Given the description of an element on the screen output the (x, y) to click on. 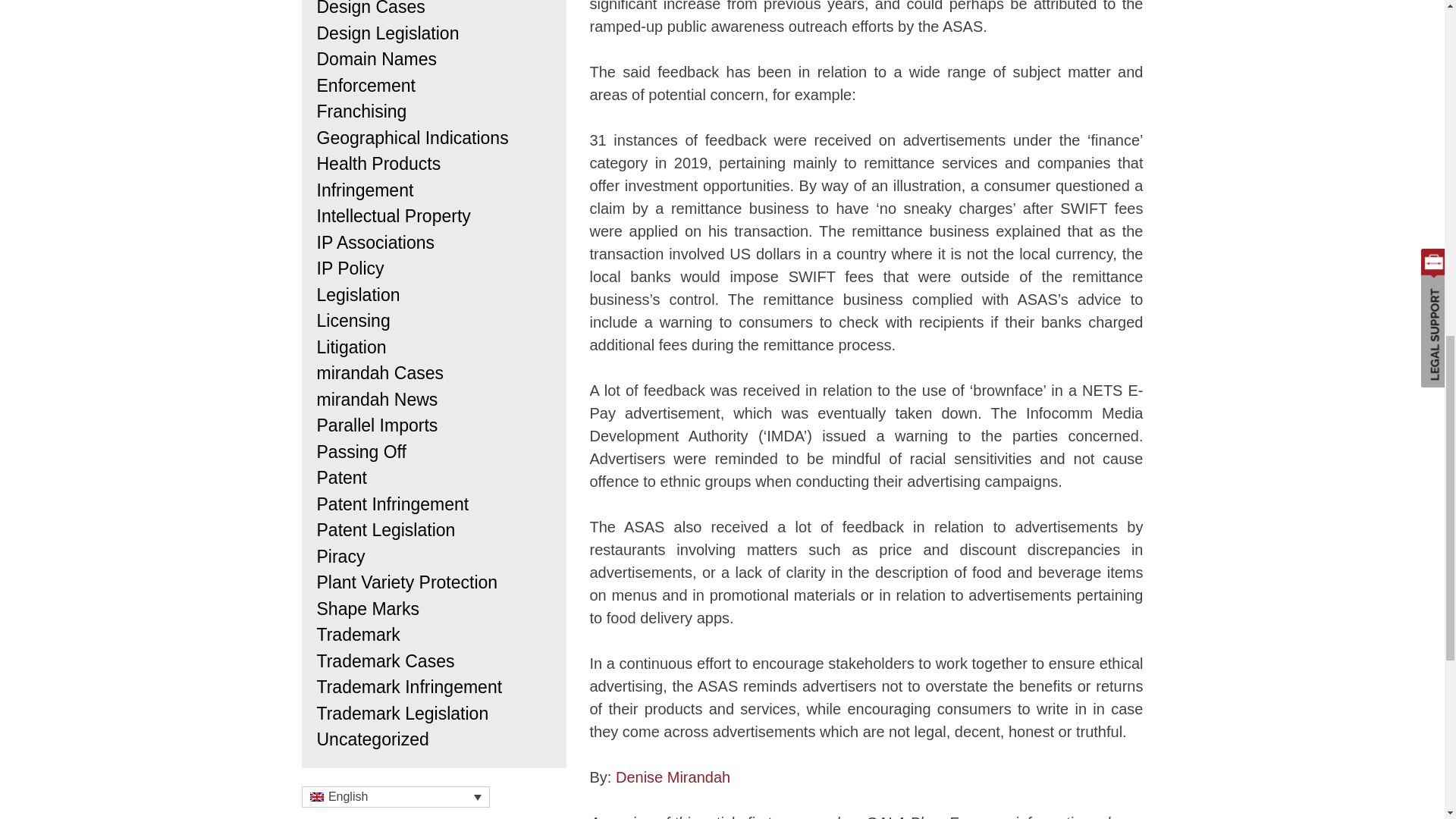
English (315, 796)
Design Legislation (388, 33)
Design Cases (371, 8)
Enforcement (365, 85)
Franchising (362, 111)
Domain Names (377, 58)
